Given the description of an element on the screen output the (x, y) to click on. 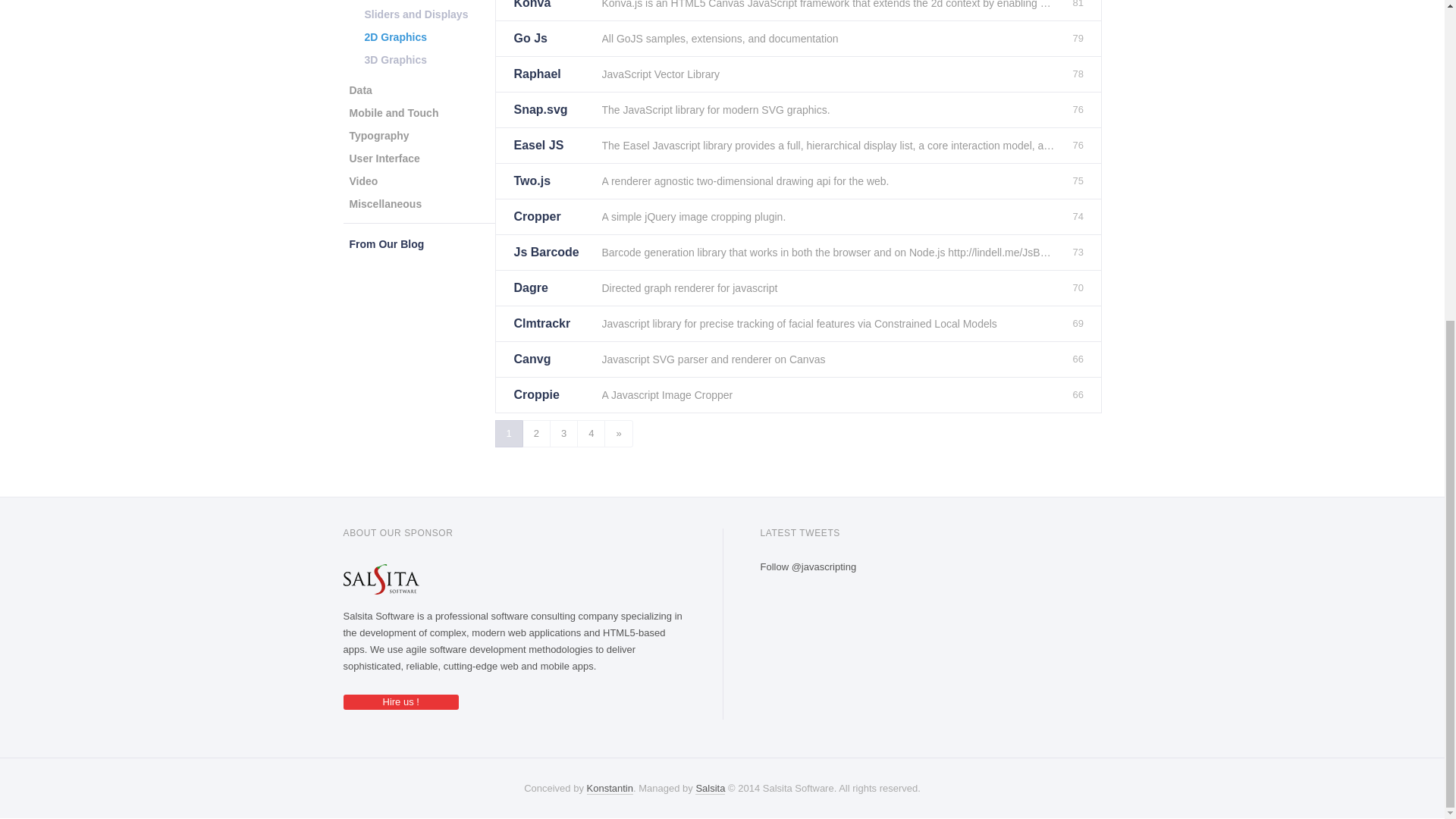
Miscellaneous (385, 203)
2D Graphics (395, 36)
Video (363, 180)
Typography (378, 135)
Konva (551, 10)
Mobile and Touch (393, 112)
3D Graphics (395, 59)
User Interface (383, 158)
Sliders and Displays (416, 14)
Data (359, 89)
